Given the description of an element on the screen output the (x, y) to click on. 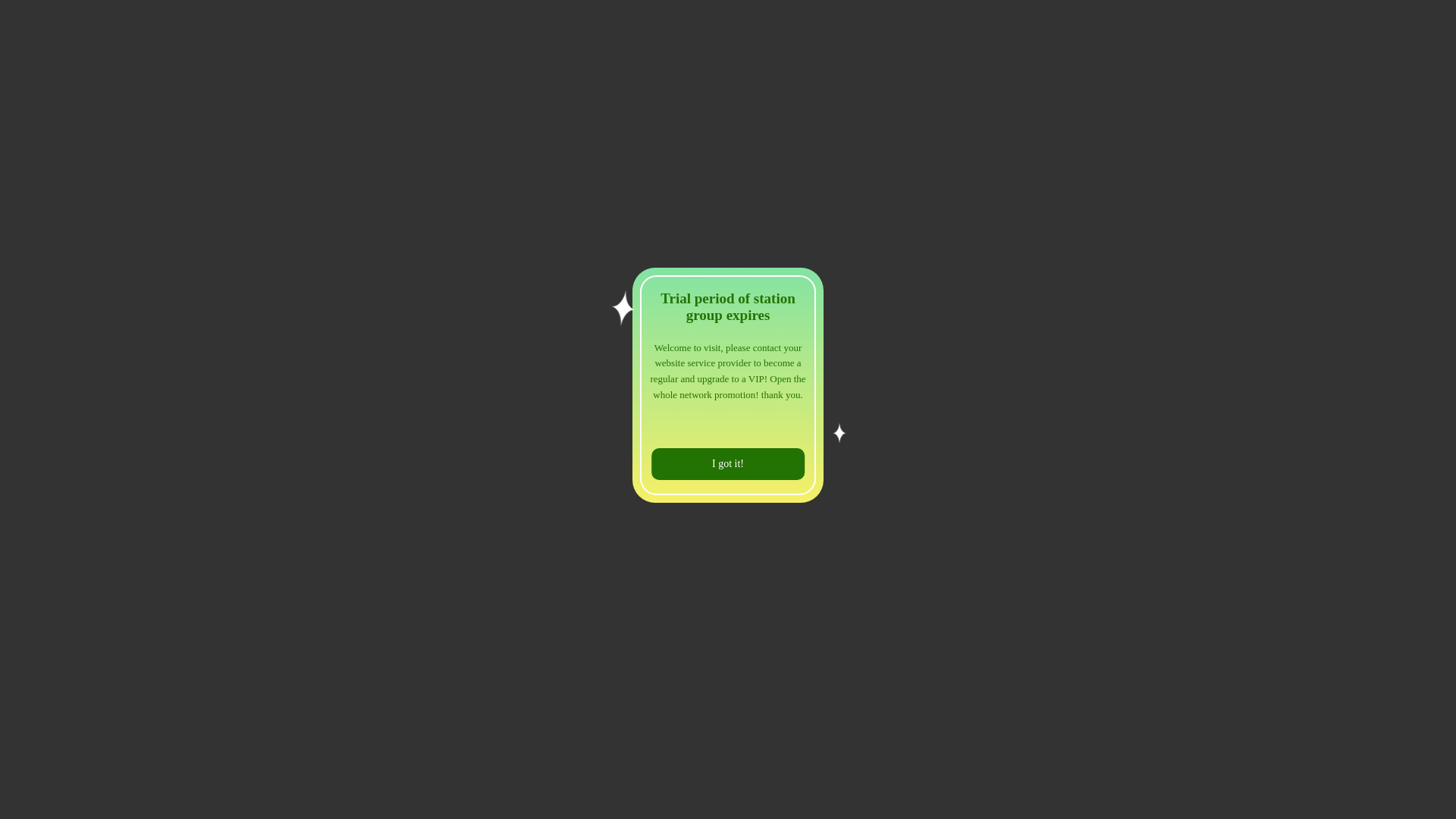
I got it! Element type: text (727, 464)
